Given the description of an element on the screen output the (x, y) to click on. 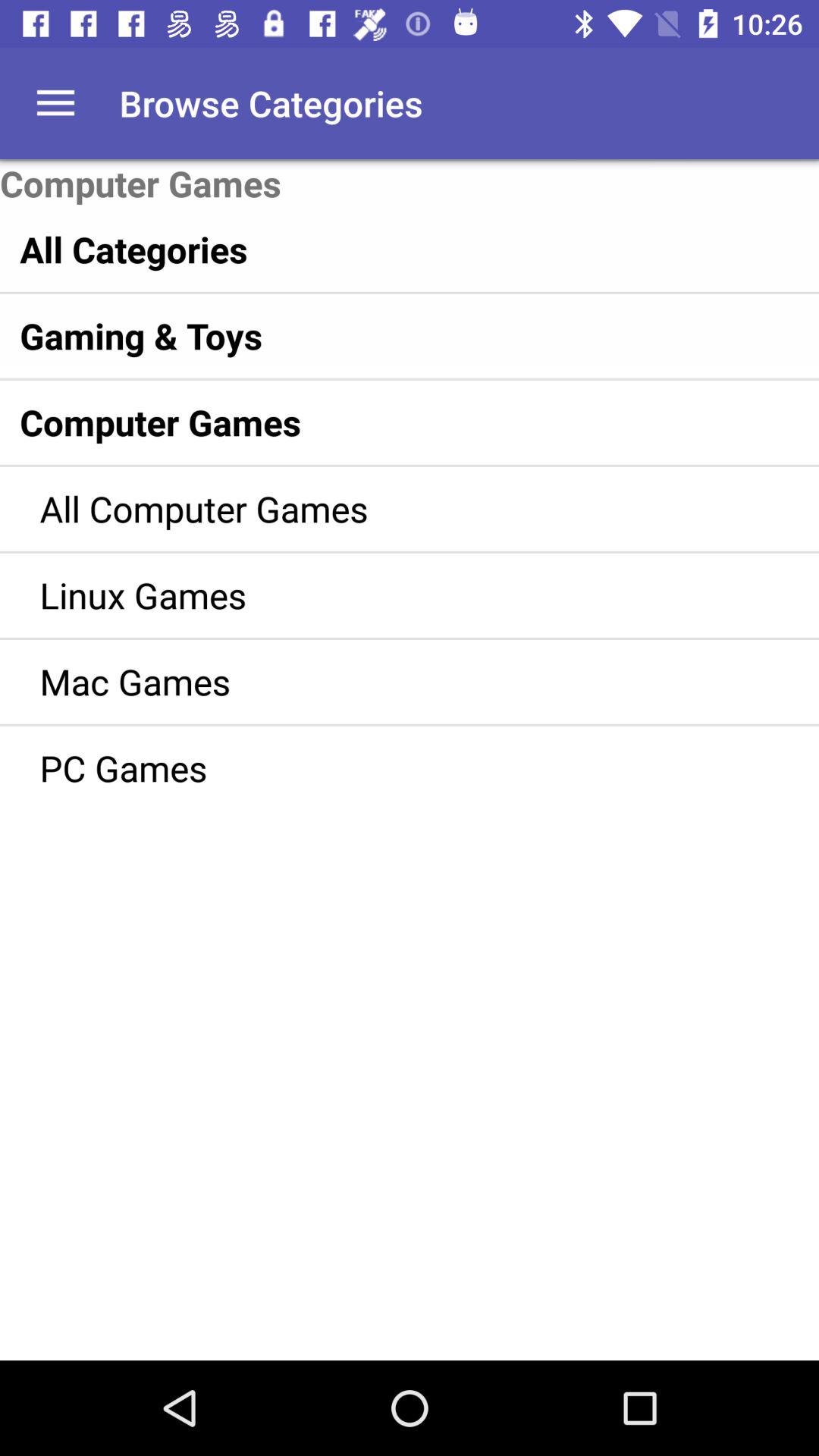
press icon below the linux games (387, 681)
